Given the description of an element on the screen output the (x, y) to click on. 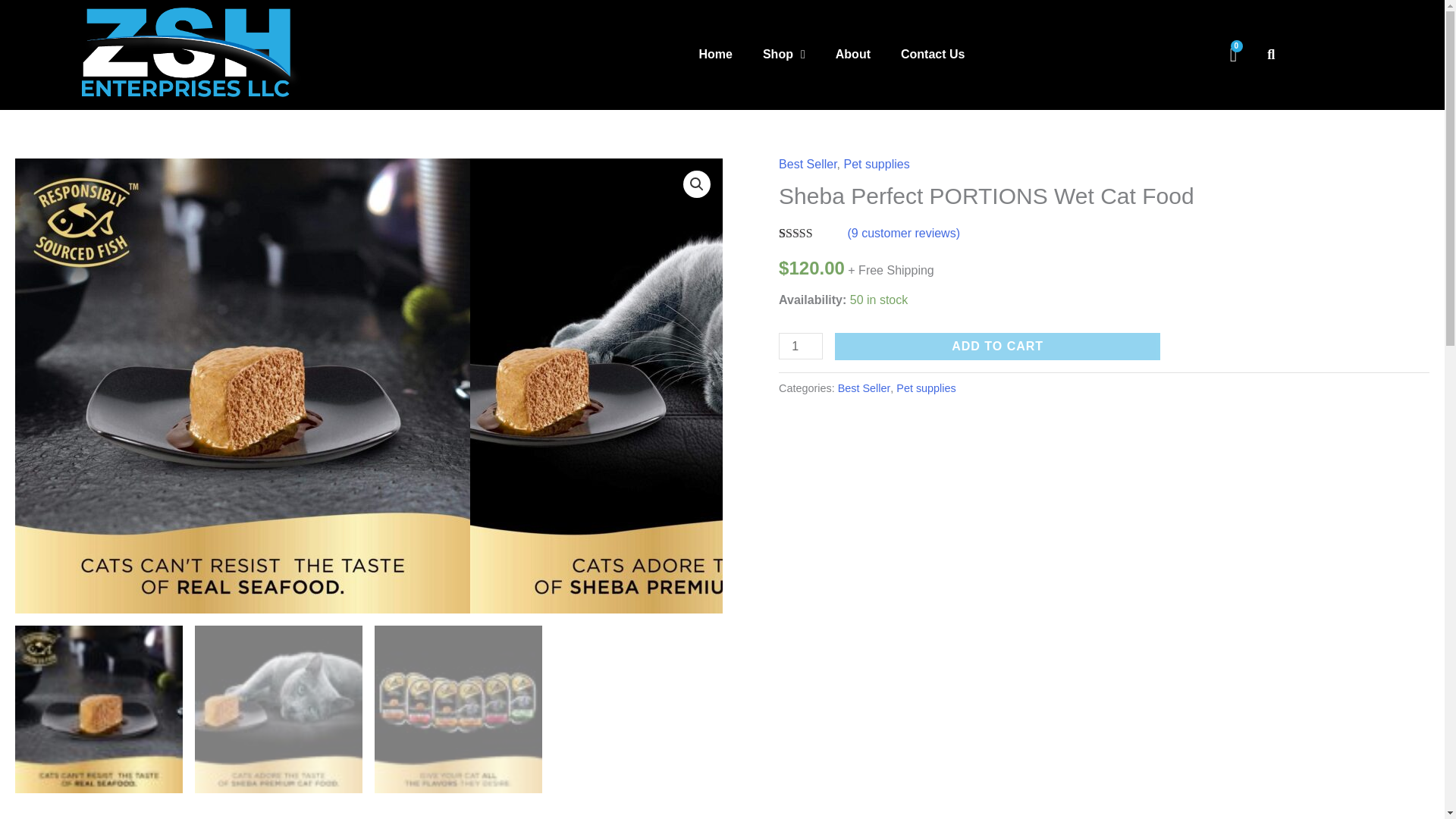
About (853, 54)
Qty (800, 345)
Home (714, 54)
Contact Us (932, 54)
Shop (784, 54)
1 (800, 345)
